Given the description of an element on the screen output the (x, y) to click on. 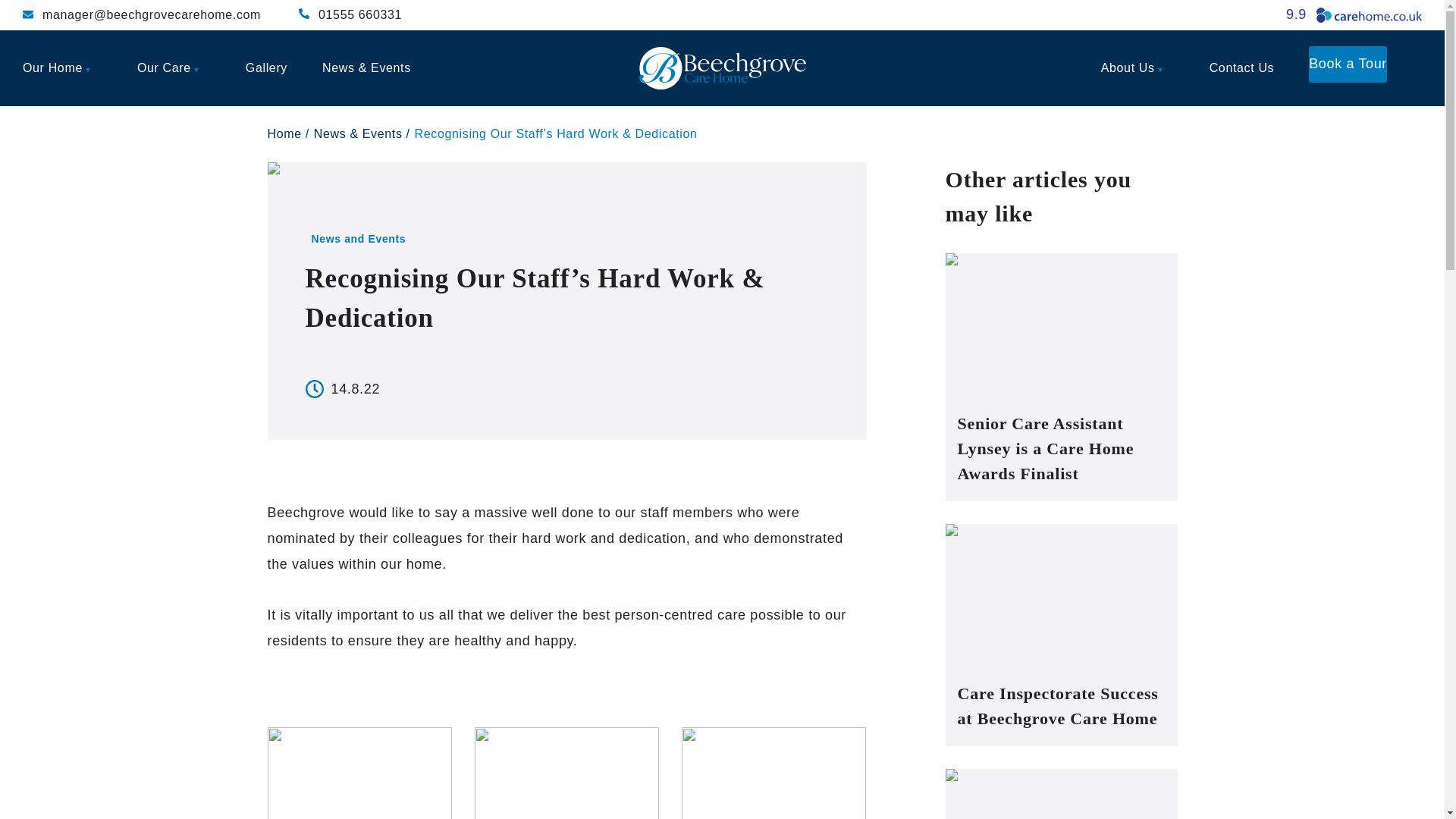
Contact Us (1242, 68)
Gallery (266, 68)
About Us (1137, 68)
9.9 (1353, 14)
01555 660331 (349, 15)
Our Care (173, 68)
Book a Tour (1347, 63)
Our Home (62, 68)
